Given the description of an element on the screen output the (x, y) to click on. 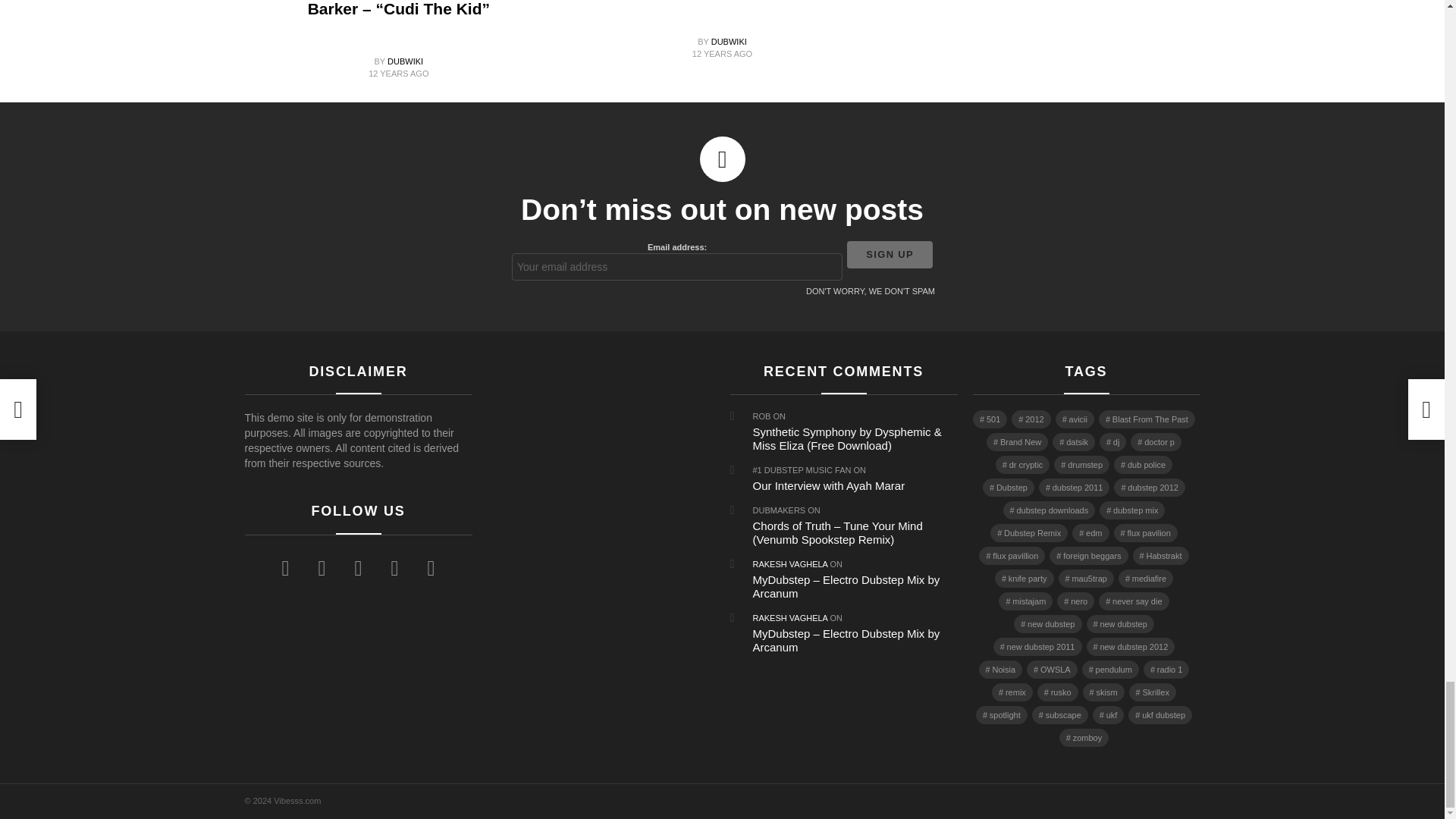
Sign up (890, 254)
